Given the description of an element on the screen output the (x, y) to click on. 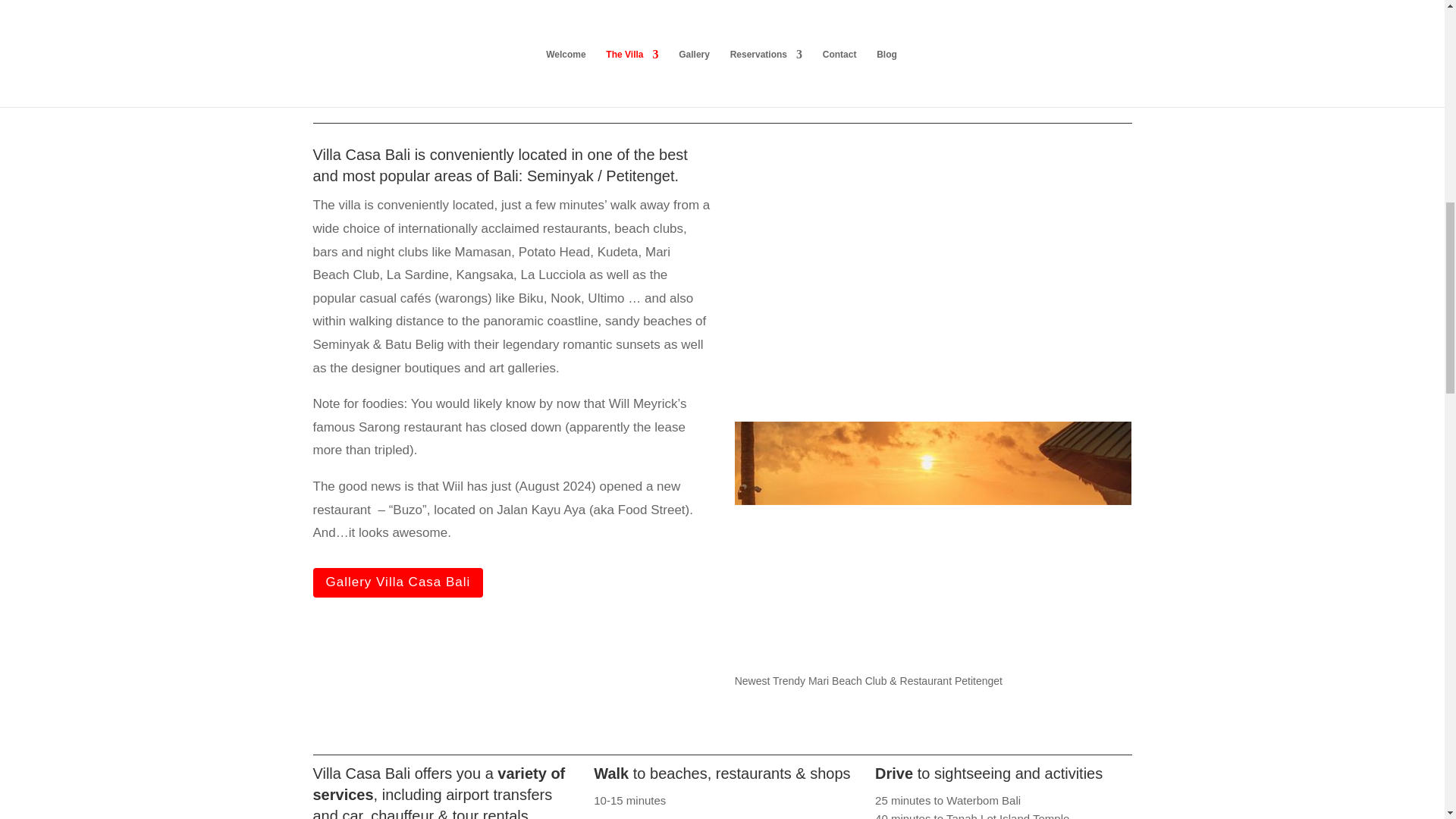
Gallery Villa Casa Bali (398, 582)
Mari Beach Club Bali-01 800x500 (933, 545)
variety of services (438, 783)
sardine-restaurant-bali (933, 276)
